Given the description of an element on the screen output the (x, y) to click on. 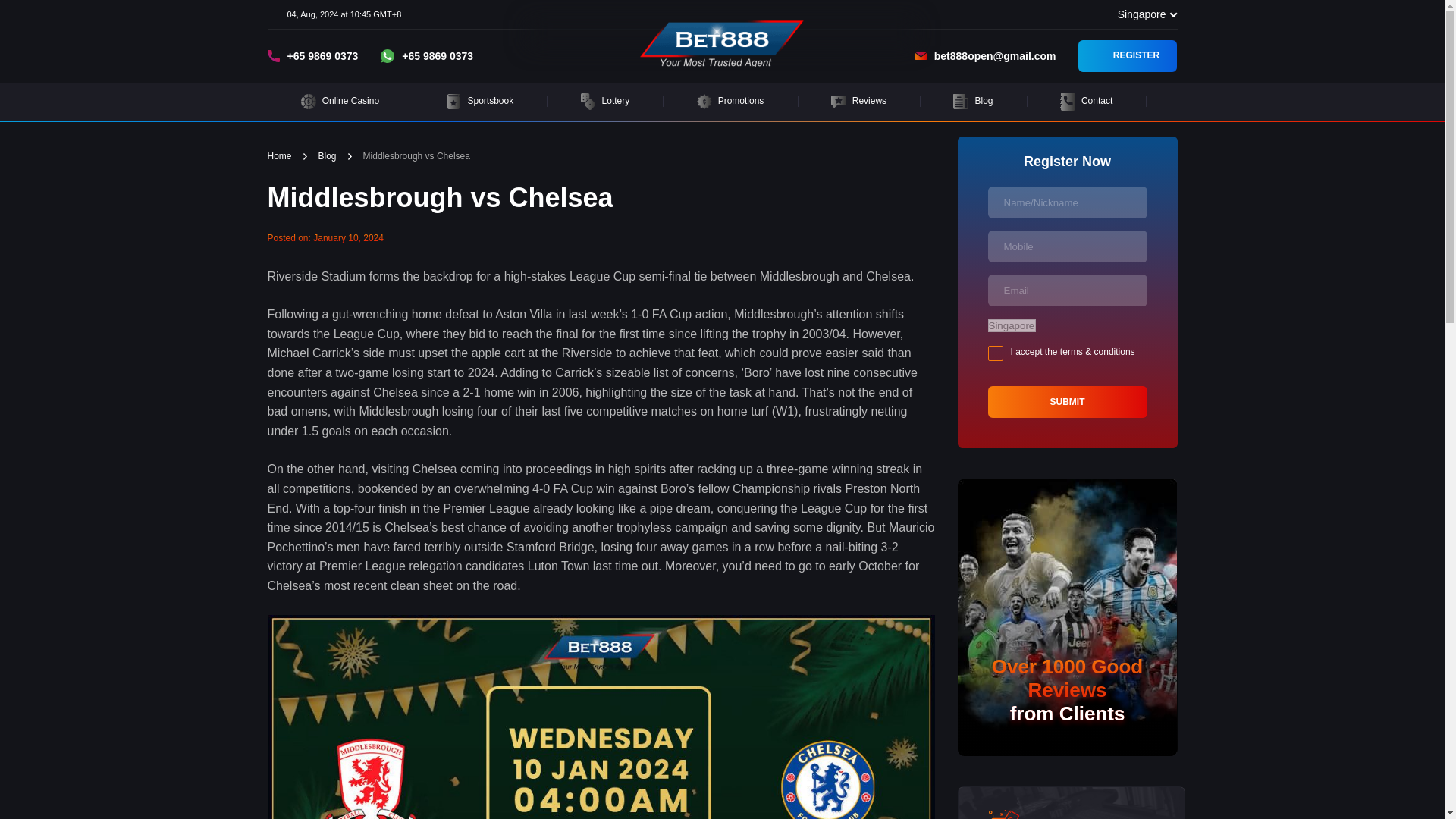
Home (278, 156)
REGISTER (1127, 56)
Submit (1067, 401)
Promotions (729, 101)
Blog (327, 156)
Submit (1067, 401)
Sportsbook (479, 101)
Contact (1086, 101)
Reviews (859, 101)
Blog (972, 101)
Online Casino (339, 101)
Lottery (604, 101)
